Given the description of an element on the screen output the (x, y) to click on. 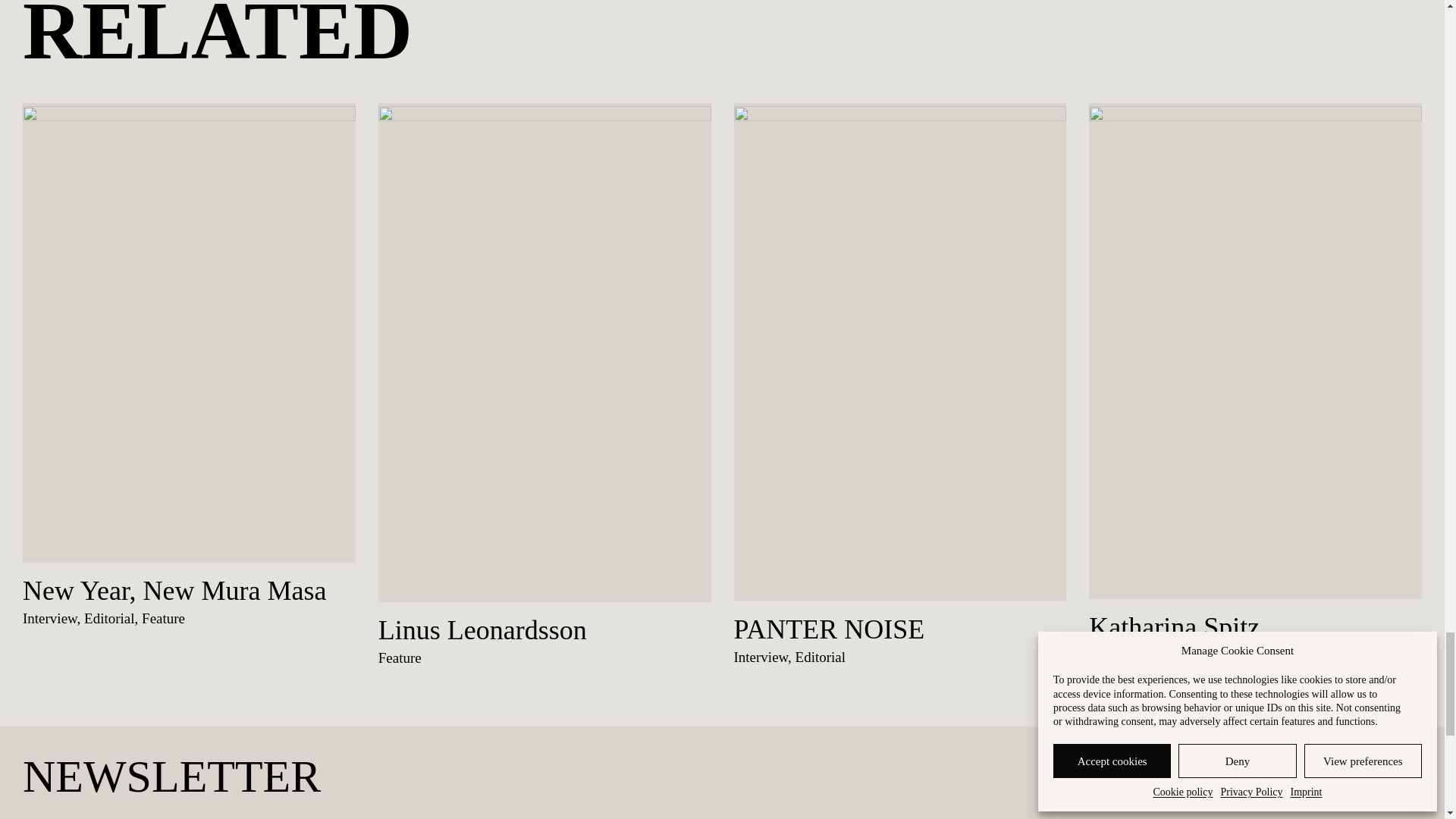
PANTER NOISE (828, 629)
New Year, New Mura Masa (174, 590)
Katharina Spitz (1174, 626)
Linus Leonardsson (482, 629)
